Given the description of an element on the screen output the (x, y) to click on. 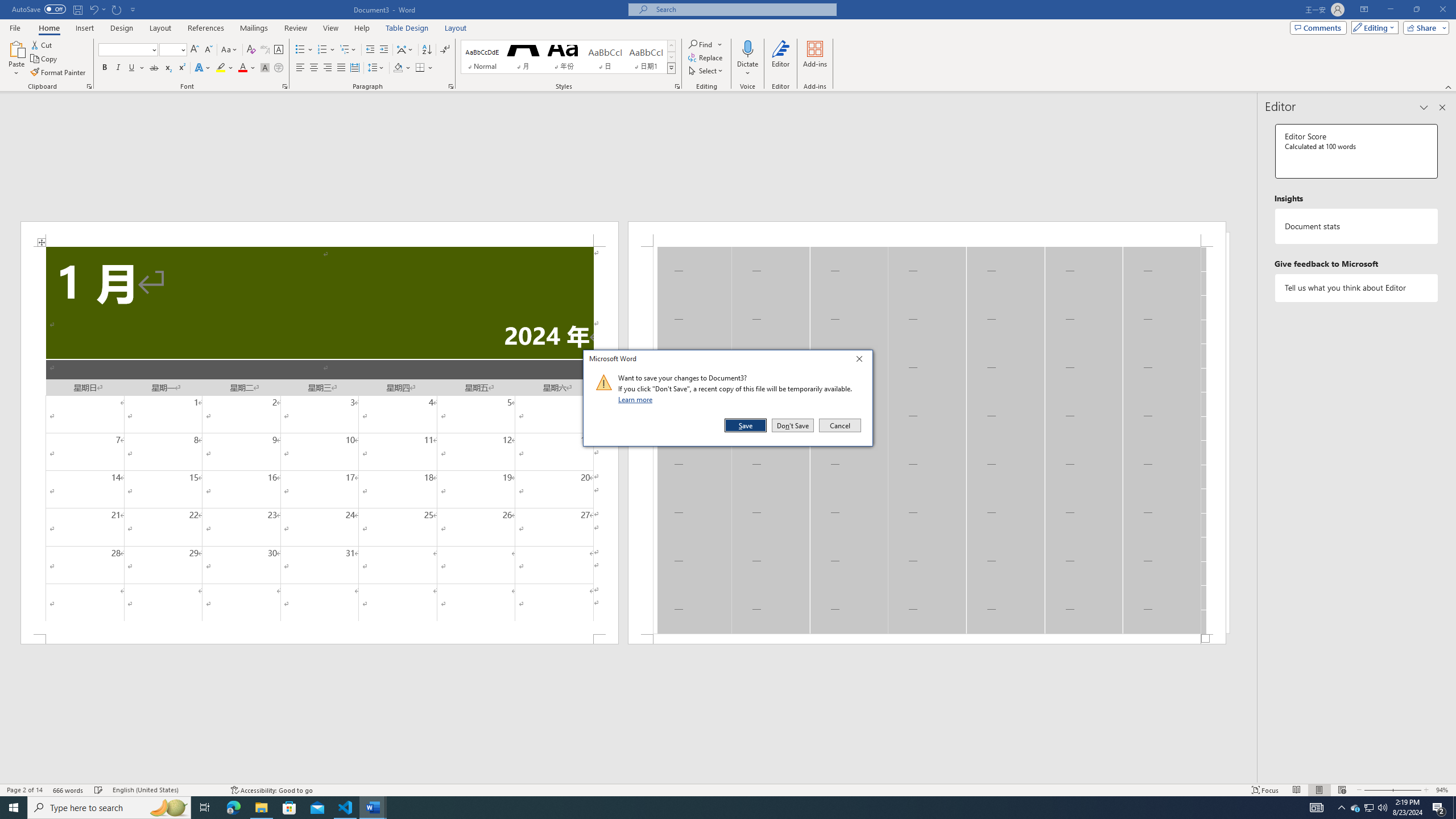
Word Count 666 words (68, 790)
Focus  (1265, 790)
Help (361, 28)
Dictate (747, 58)
Bullets (300, 49)
Select (705, 69)
Footer -Section 1- (926, 638)
Task View (204, 807)
Italic (118, 67)
Find (705, 44)
Numbering (322, 49)
Class: NetUIImage (603, 382)
Restore Down (1416, 9)
System (6, 6)
